Given the description of an element on the screen output the (x, y) to click on. 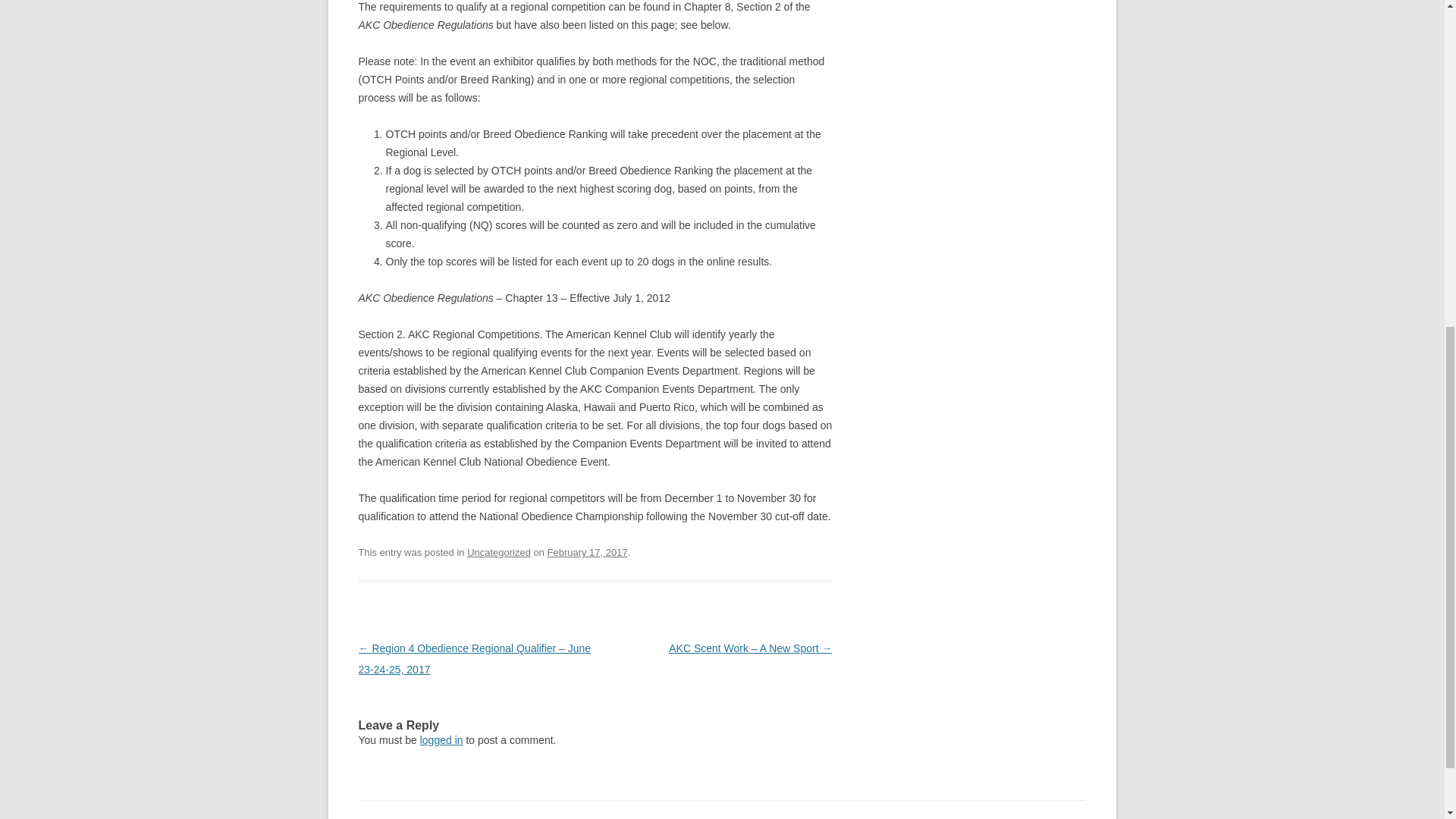
Uncategorized (499, 552)
February 17, 2017 (587, 552)
logged in (441, 739)
8:18 am (587, 552)
